Given the description of an element on the screen output the (x, y) to click on. 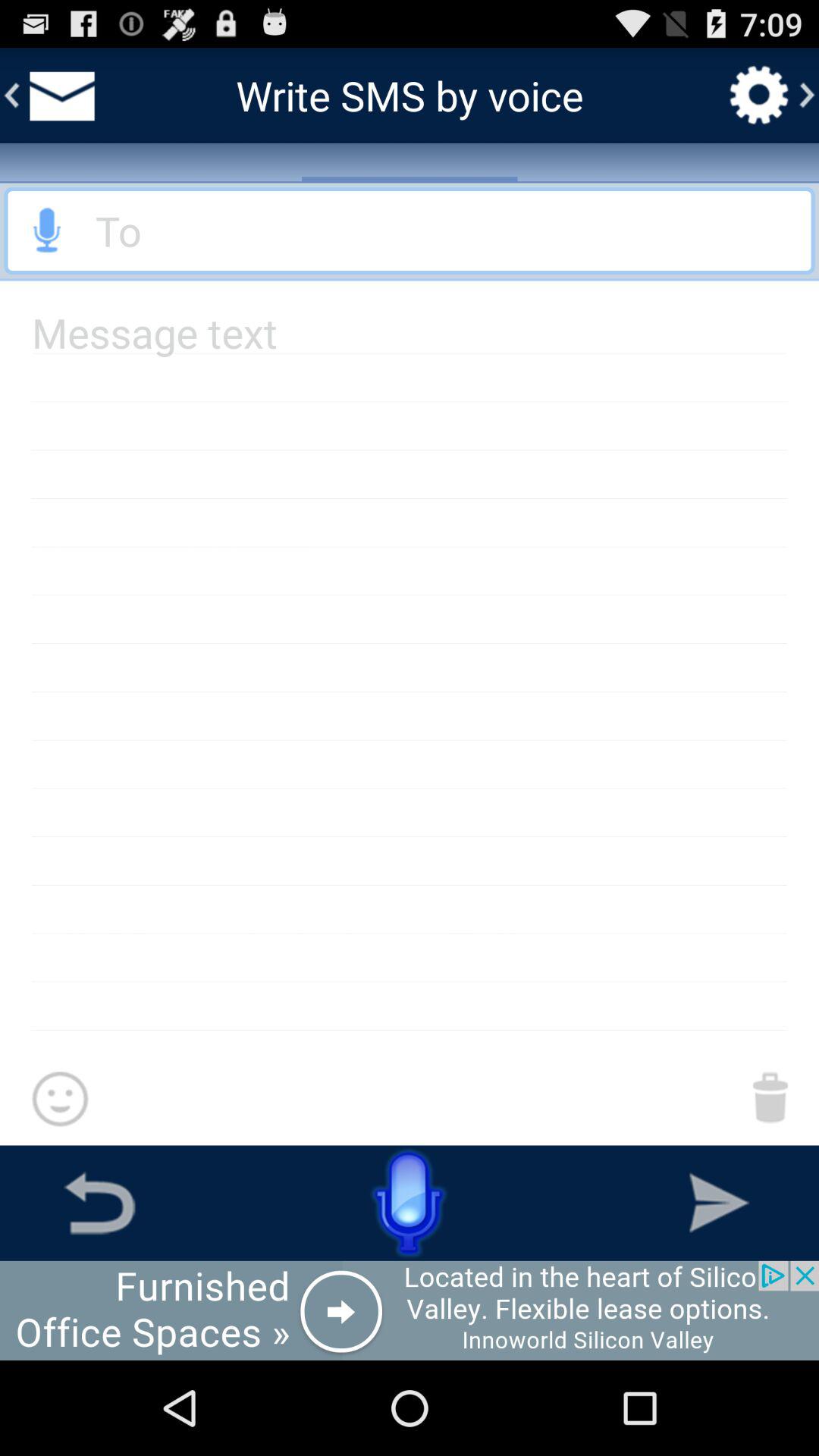
emoji option (59, 1099)
